Given the description of an element on the screen output the (x, y) to click on. 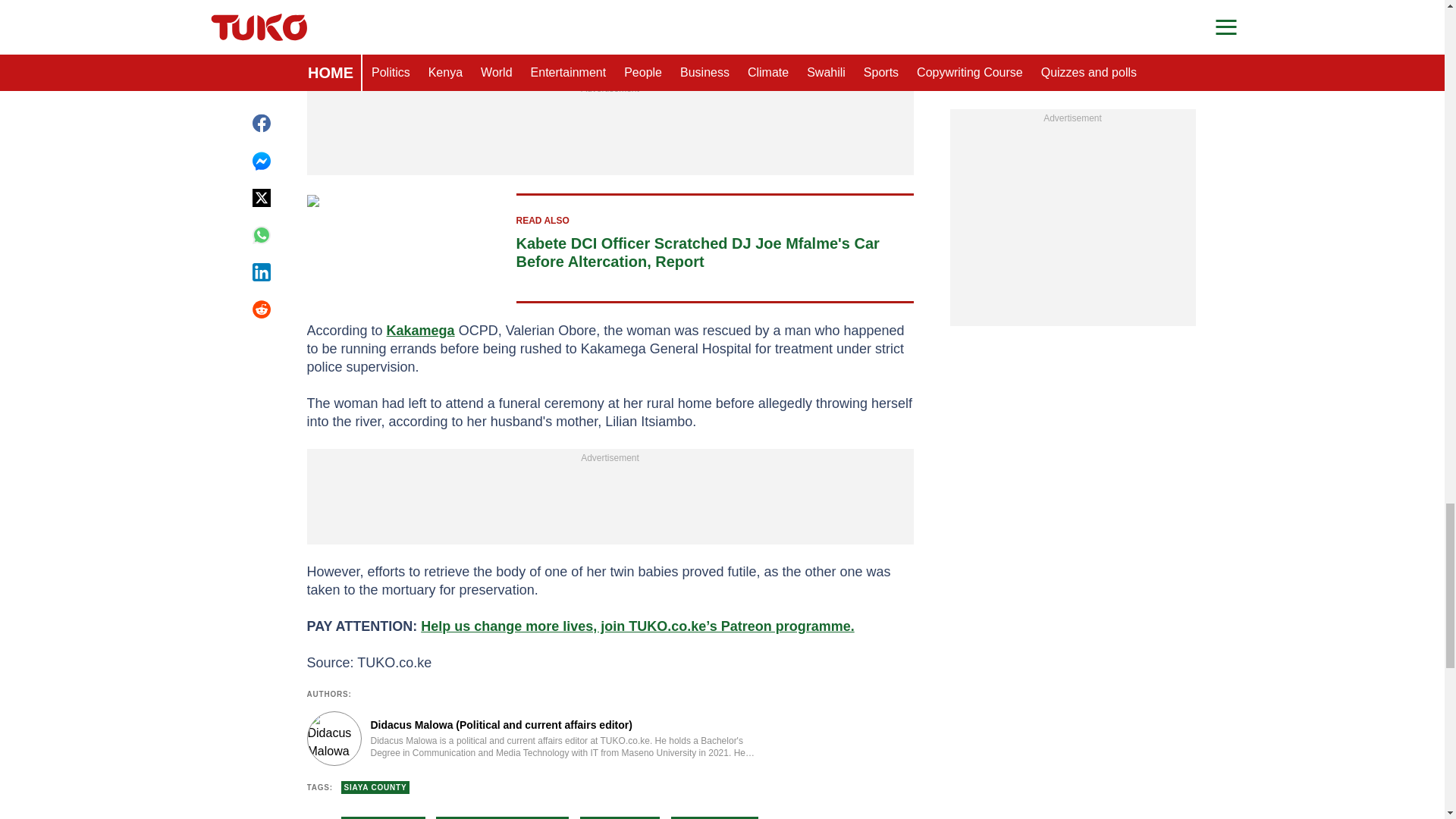
Author page (533, 738)
